Given the description of an element on the screen output the (x, y) to click on. 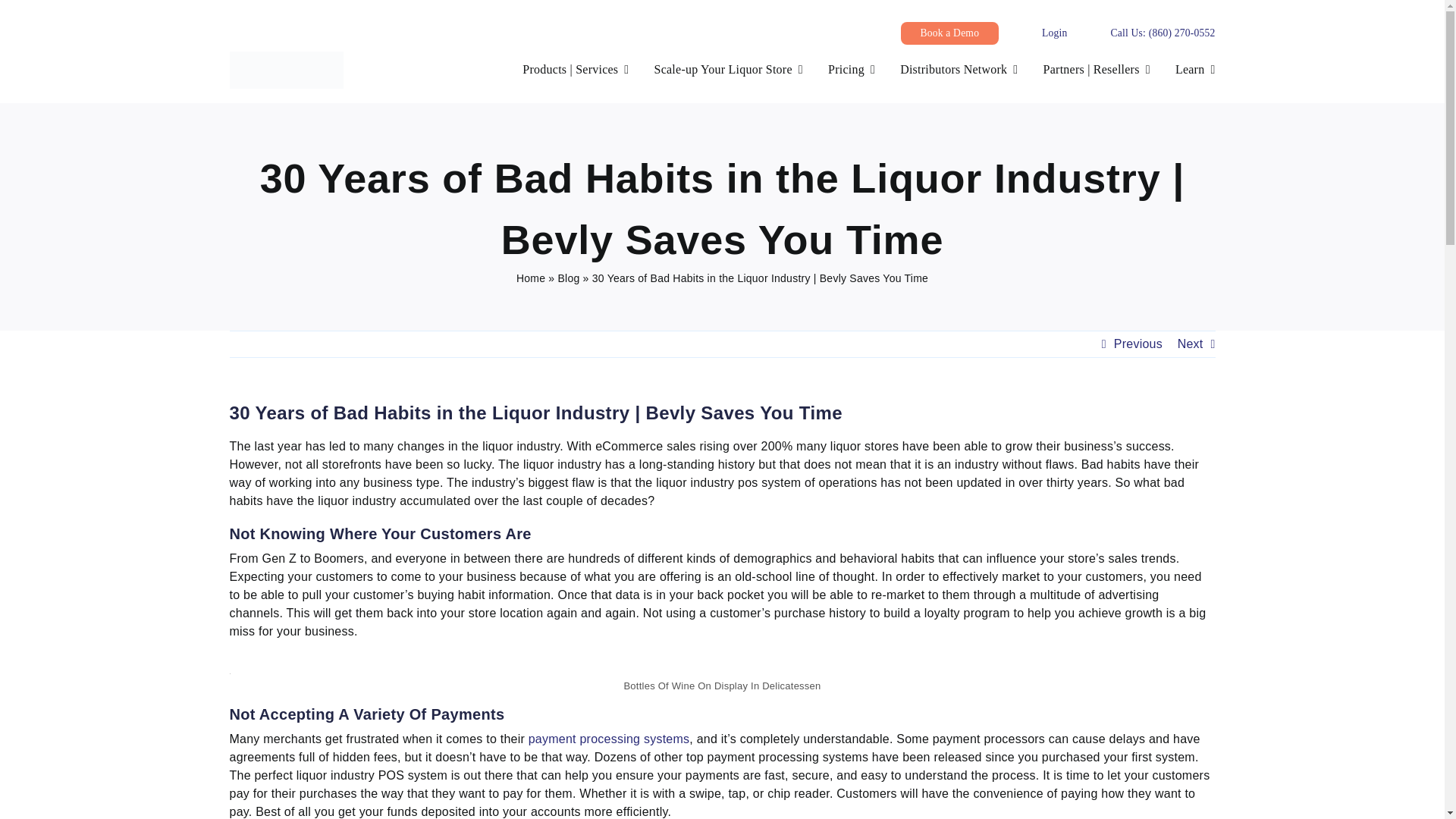
Book a Demo (949, 33)
Login (1054, 32)
